Given the description of an element on the screen output the (x, y) to click on. 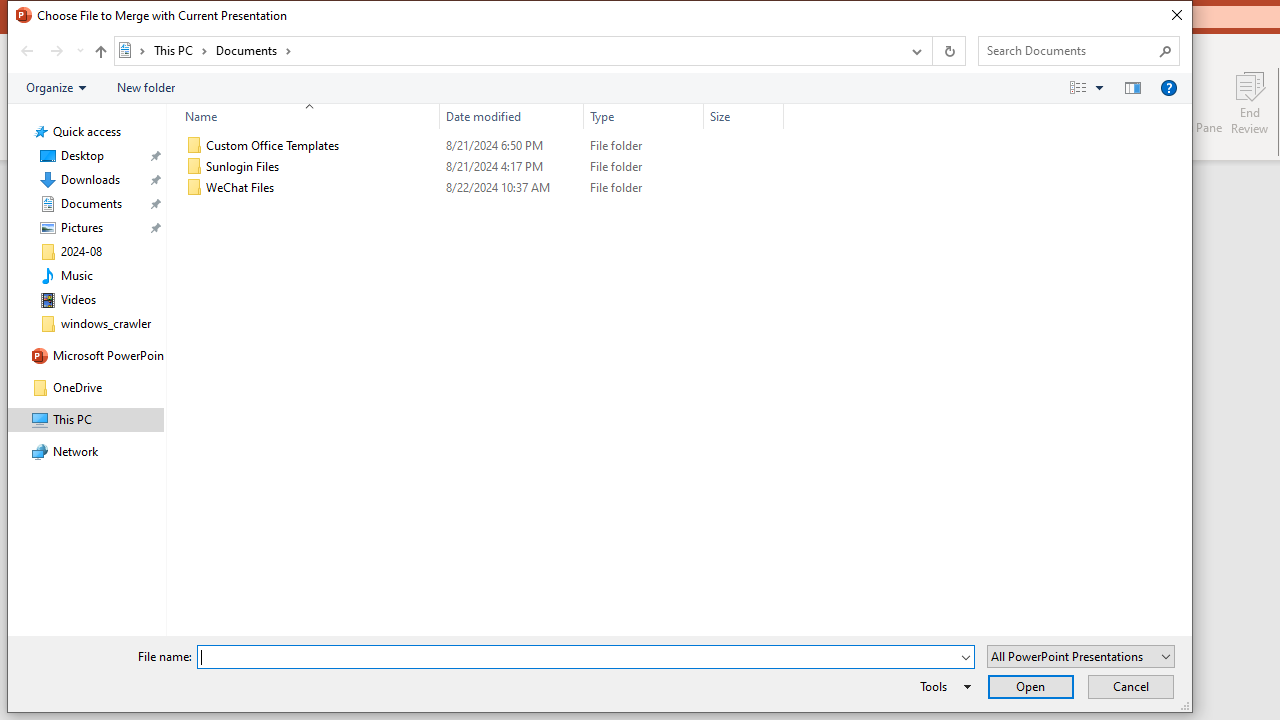
Forward (Alt + Right Arrow) (56, 51)
Documents (253, 50)
Close (1175, 15)
End Review (1249, 102)
Size (743, 187)
File name: (586, 656)
Back (Alt + Left Arrow) (26, 51)
Type (643, 115)
Previous Locations (914, 51)
WeChat Files (480, 187)
System (18, 18)
&Help (1168, 87)
Up band toolbar (100, 54)
This PC (180, 50)
Cancel (1130, 686)
